Given the description of an element on the screen output the (x, y) to click on. 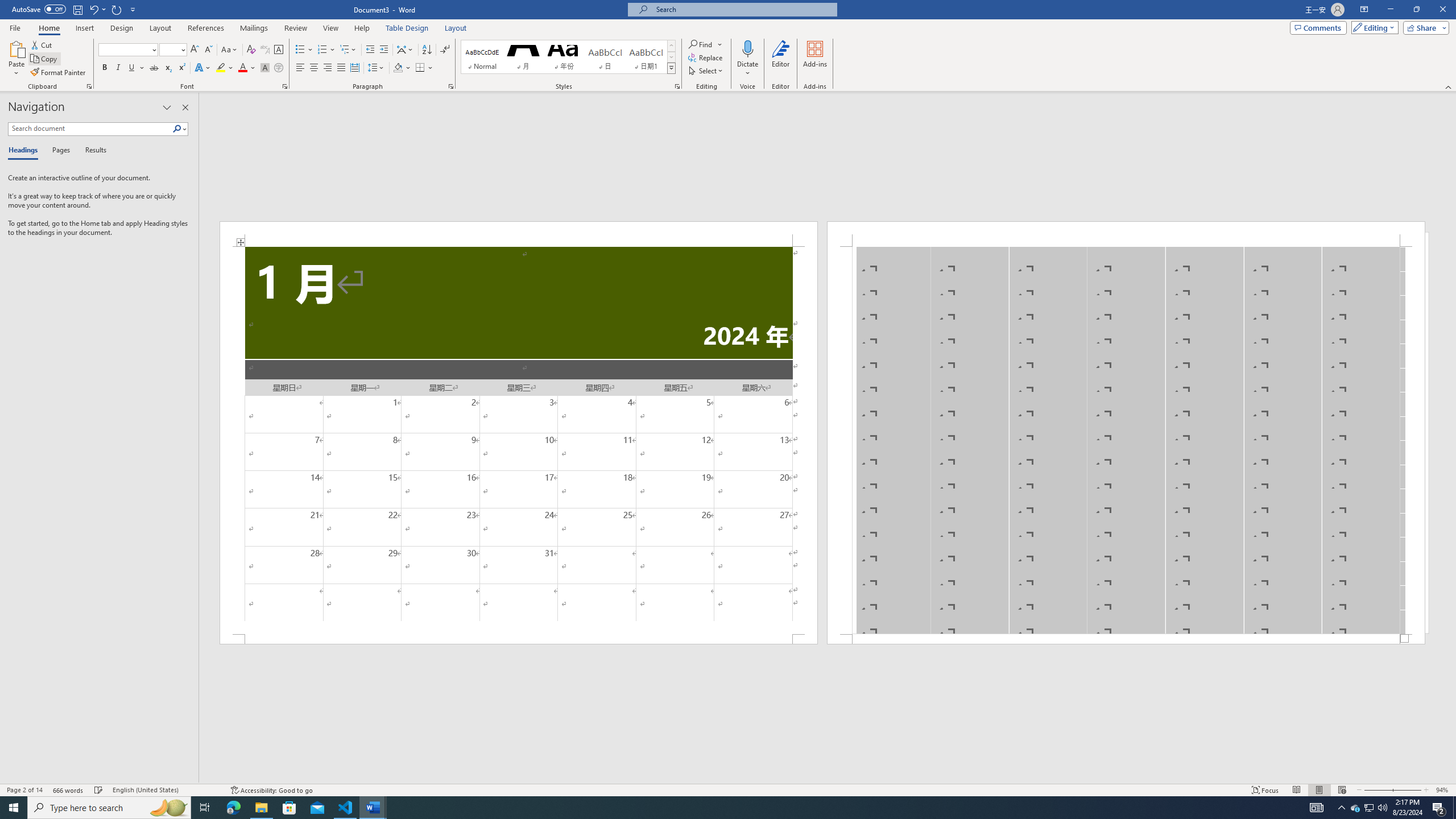
Page Number Page 2 of 14 (24, 790)
